Given the description of an element on the screen output the (x, y) to click on. 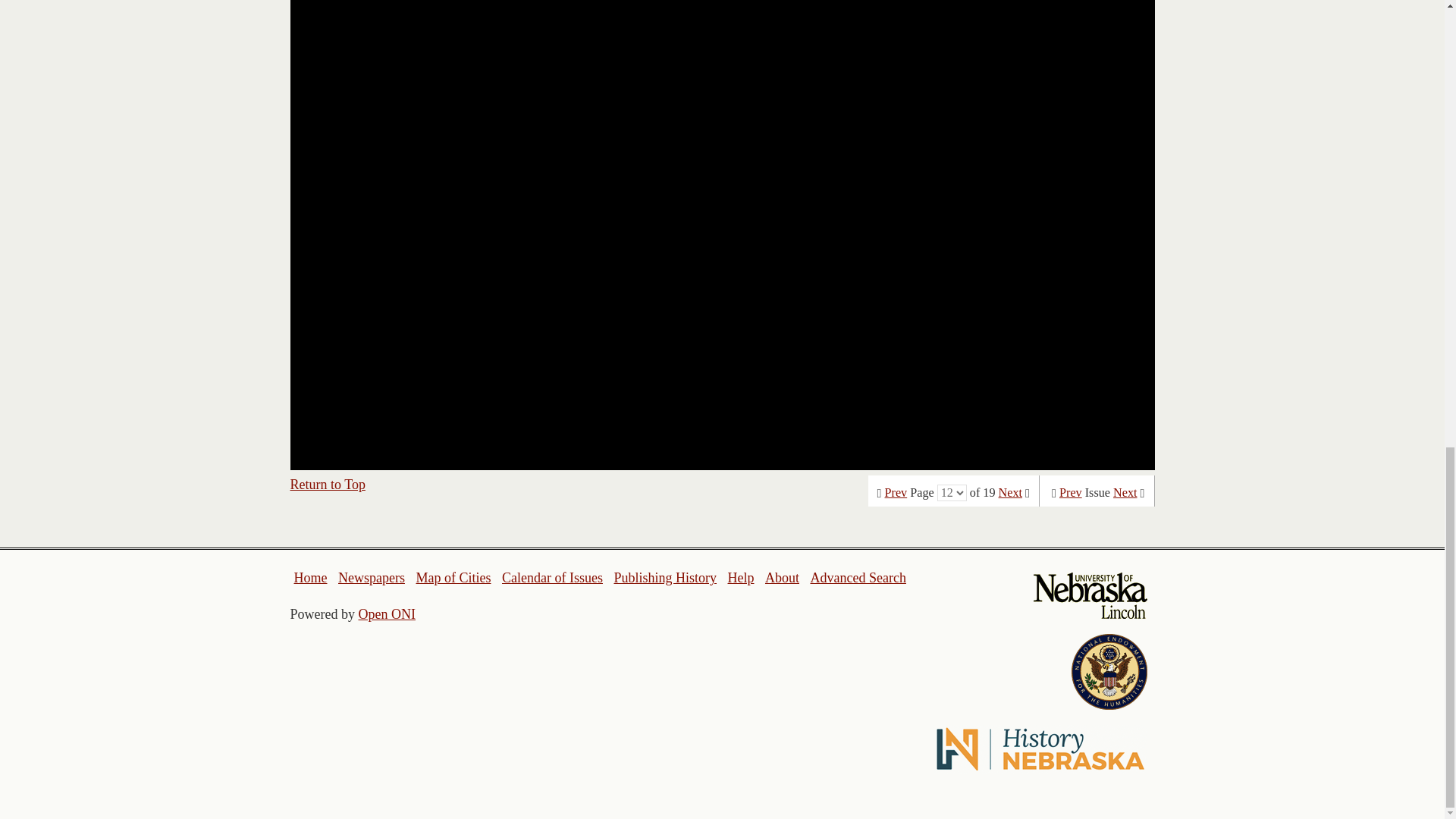
Next (1010, 492)
Prev (1070, 492)
Advanced Search (857, 577)
About (782, 577)
Help (740, 577)
Newspapers (370, 577)
Publishing History (664, 577)
Prev (896, 492)
Return to Top (327, 484)
Next (1125, 492)
Map of Cities (452, 577)
Open ONI (386, 613)
Home (310, 577)
Calendar of Issues (552, 577)
